Given the description of an element on the screen output the (x, y) to click on. 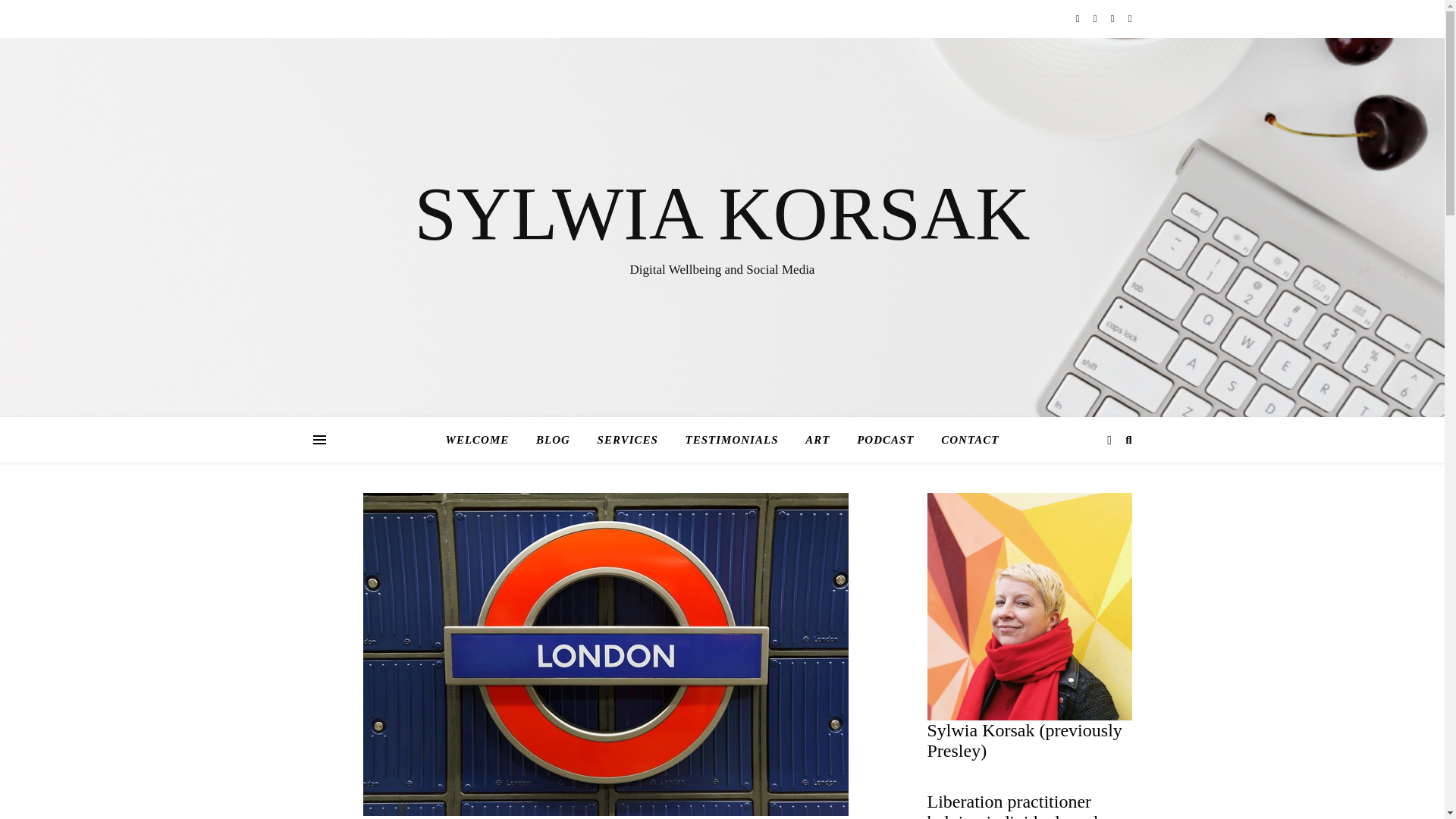
BLOG (553, 439)
PODCAST (885, 439)
WELCOME (483, 439)
CONTACT (963, 439)
SERVICES (627, 439)
TESTIMONIALS (731, 439)
ART (817, 439)
